Given the description of an element on the screen output the (x, y) to click on. 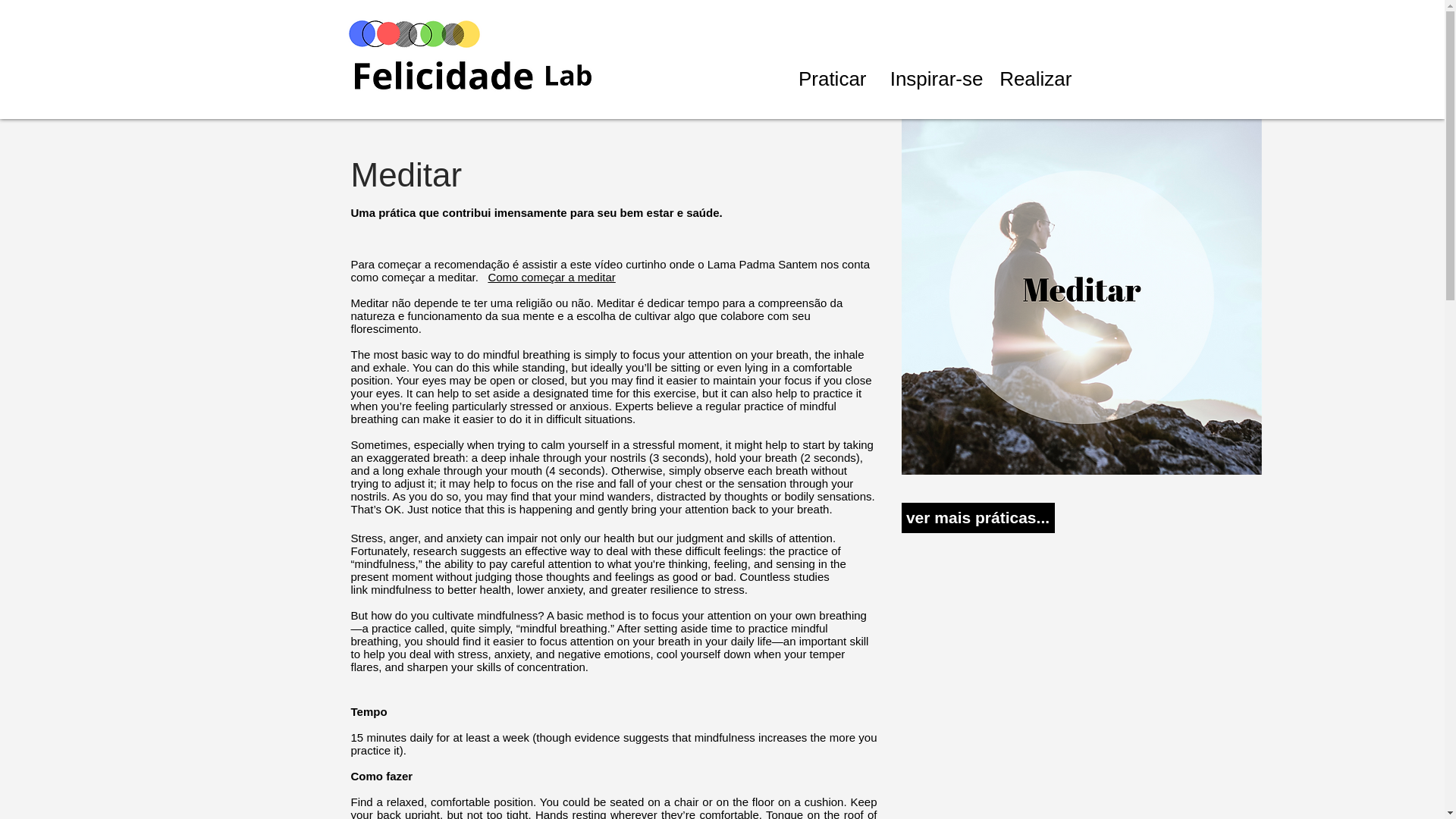
Inspirar-se (931, 78)
Realizar (1034, 78)
Praticar (829, 78)
